Given the description of an element on the screen output the (x, y) to click on. 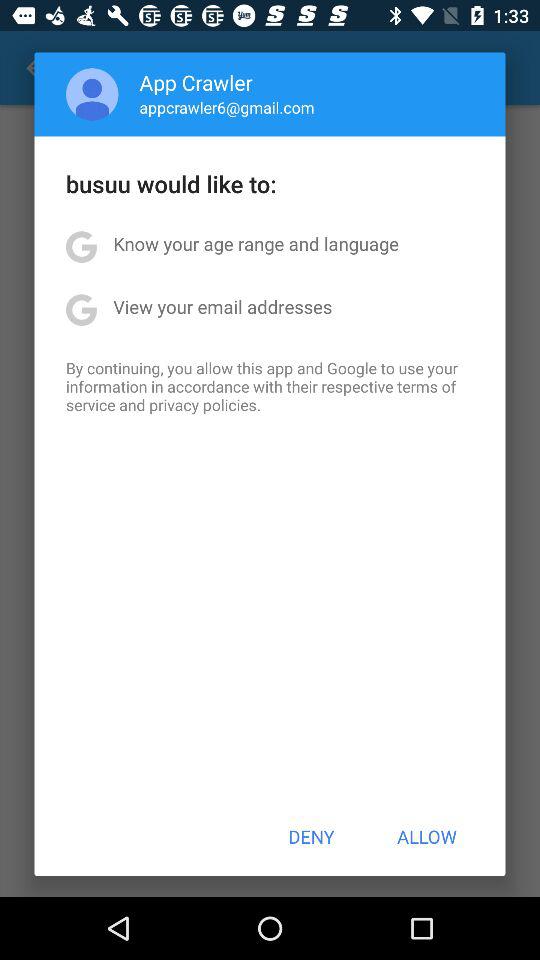
turn on the icon above the appcrawler6@gmail.com (195, 82)
